Given the description of an element on the screen output the (x, y) to click on. 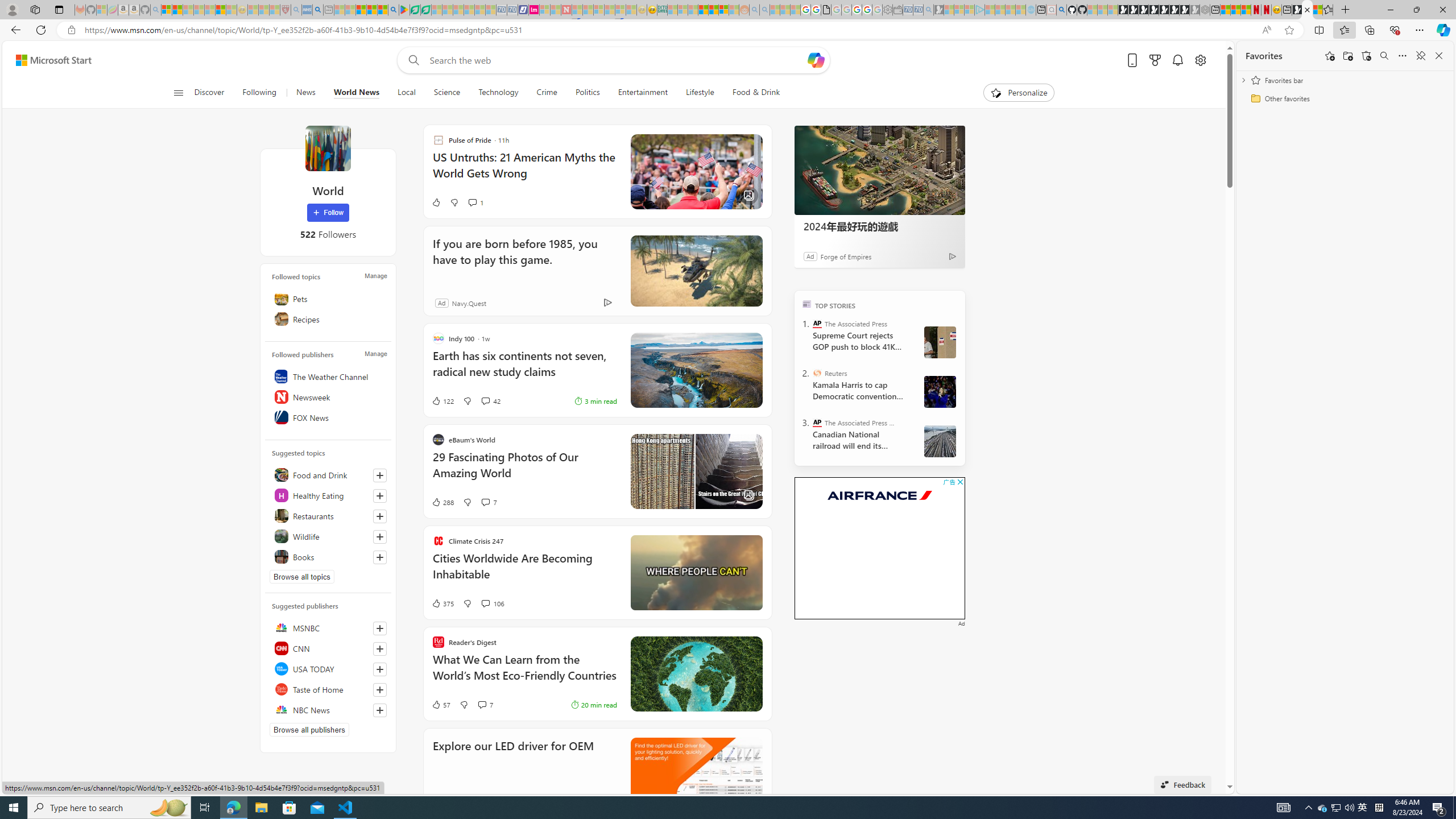
Food & Drink (756, 92)
Class: button-glyph (178, 92)
Play Cave FRVR in your browser | Games from Microsoft Start (1143, 9)
MSNBC - MSN - Sleeping (672, 9)
Technology (498, 92)
Search favorites (1383, 55)
Food & Drink (751, 92)
